Given the description of an element on the screen output the (x, y) to click on. 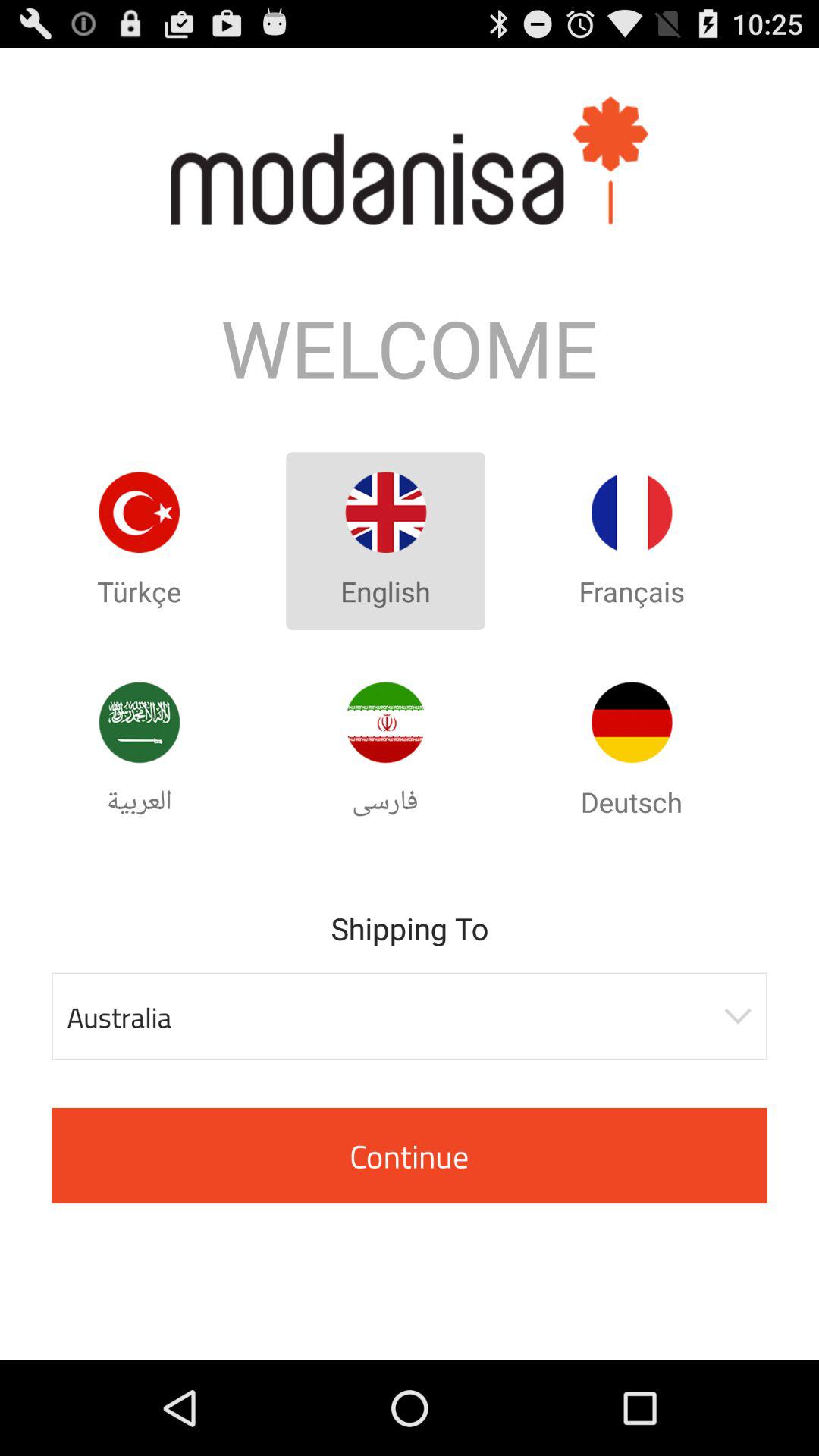
select the button below australia item (409, 1155)
